Given the description of an element on the screen output the (x, y) to click on. 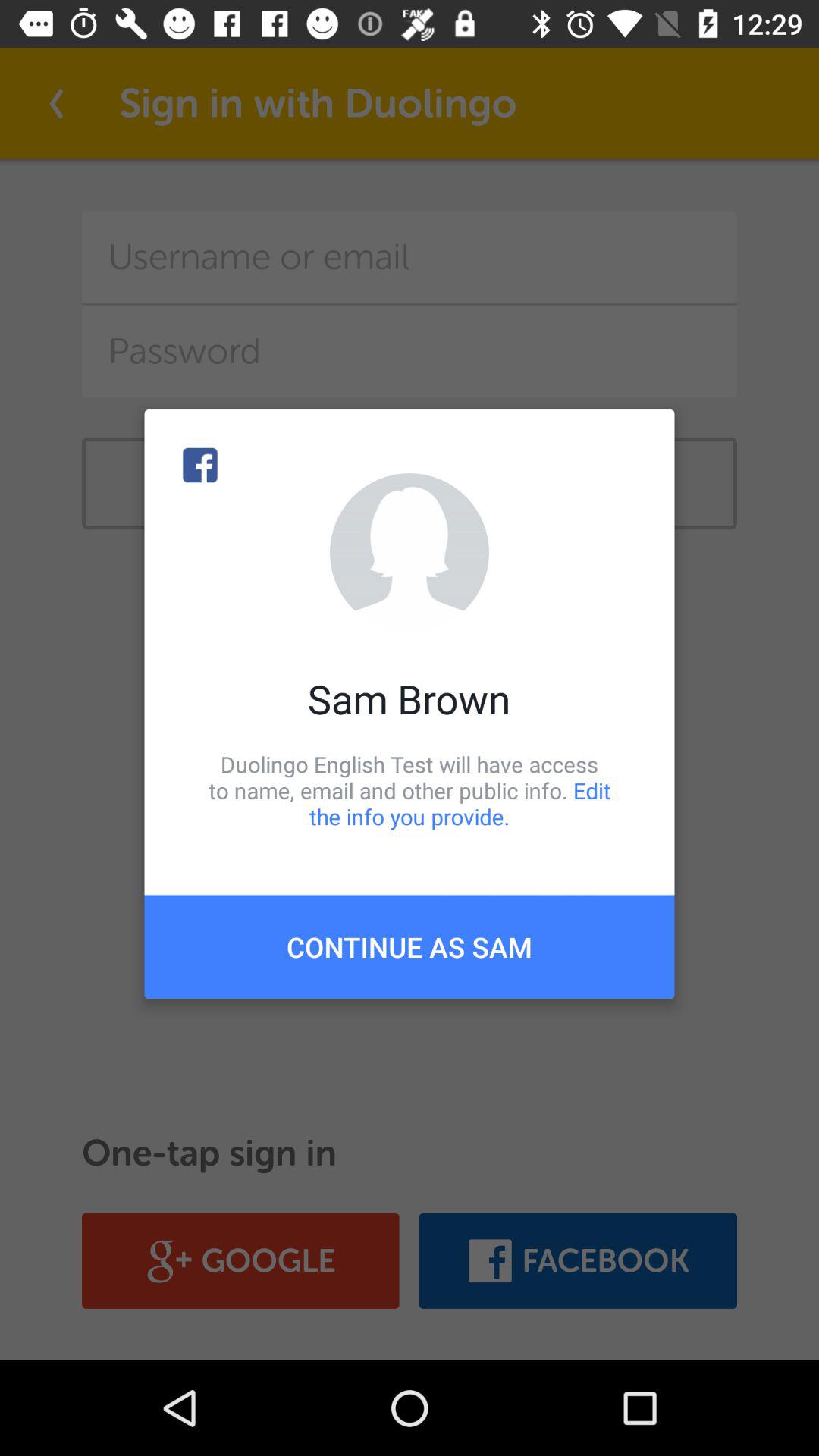
turn on continue as sam item (409, 946)
